Given the description of an element on the screen output the (x, y) to click on. 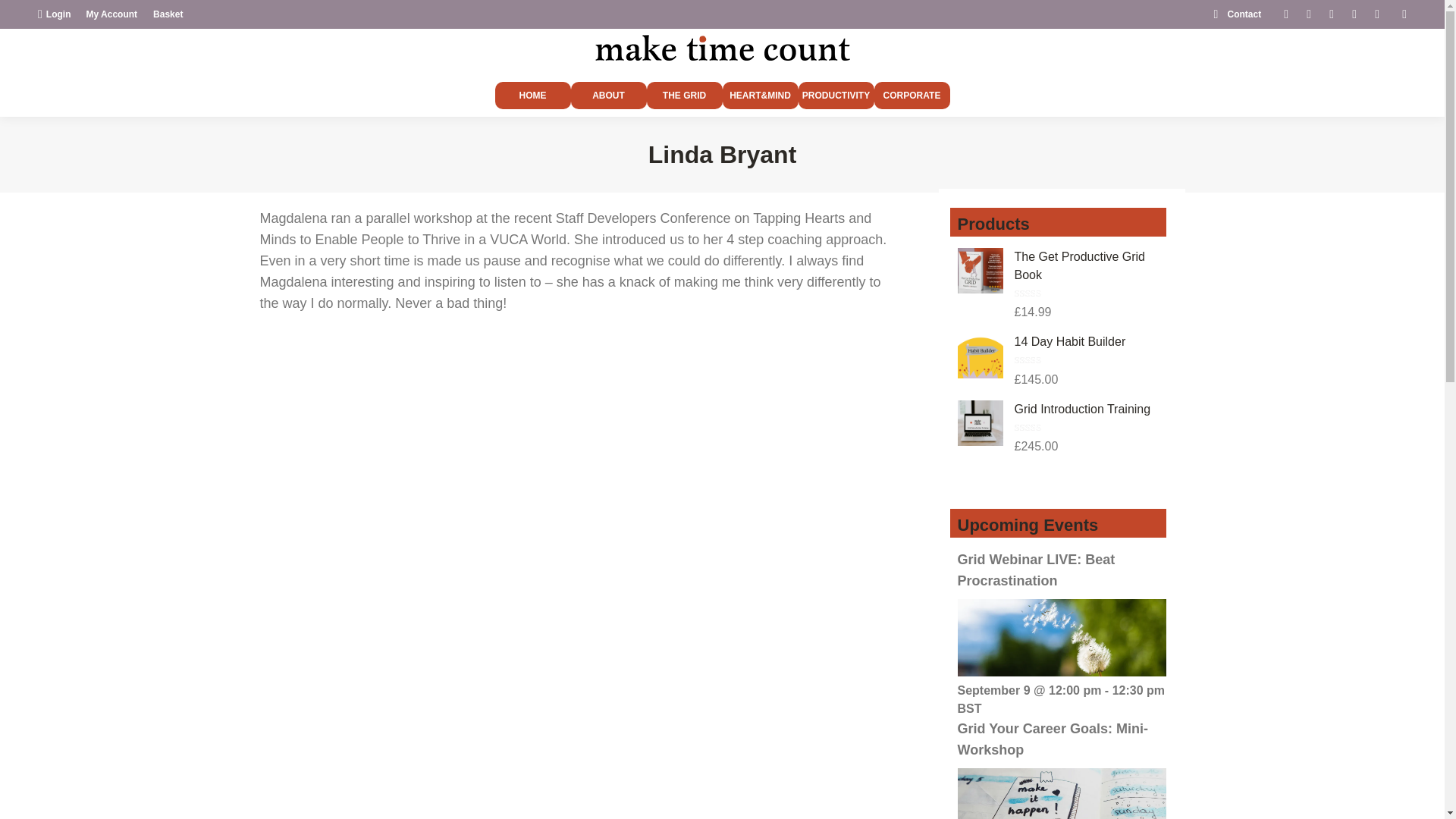
HOME (532, 94)
Basket (167, 14)
X page opens in new window (1308, 14)
Go! (25, 16)
Contact (1235, 14)
Linkedin page opens in new window (1331, 14)
Linkedin page opens in new window (1331, 14)
Instagram page opens in new window (1377, 14)
X page opens in new window (1308, 14)
YouTube page opens in new window (1353, 14)
